Given the description of an element on the screen output the (x, y) to click on. 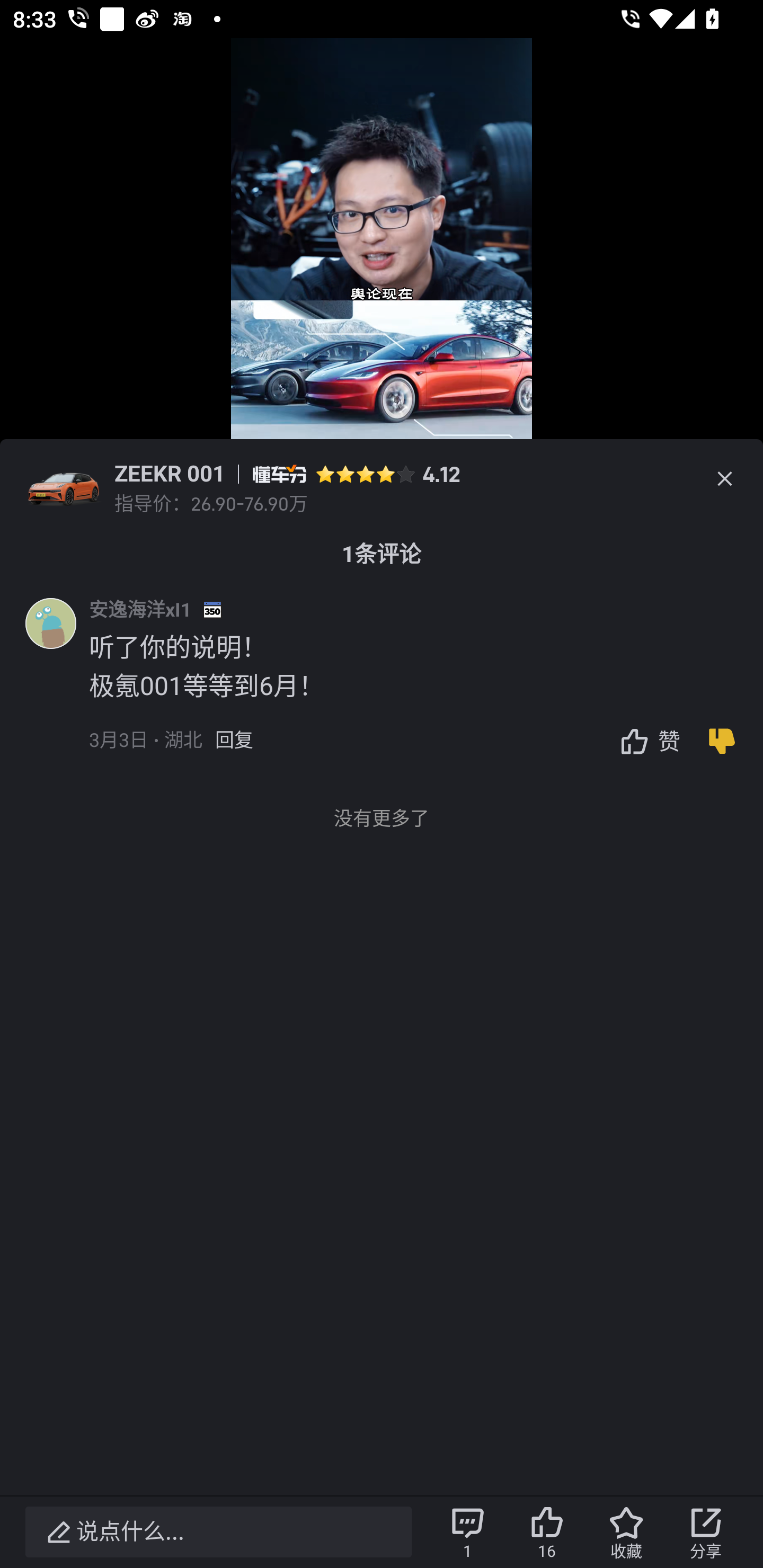
ZEEKR 001 4.12 指导价：26.90-76.90万 (381, 479)
安逸海洋xI1 听了你的说明！
极氪001等等到6月！ 3月3日 < >湖北 回复 赞 (426, 686)
安逸海洋xI1 (140, 609)
赞 (645, 740)
 1 (467, 1531)
16 (546, 1531)
收藏 (625, 1531)
 分享 (705, 1531)
 说点什么... (218, 1531)
